Given the description of an element on the screen output the (x, y) to click on. 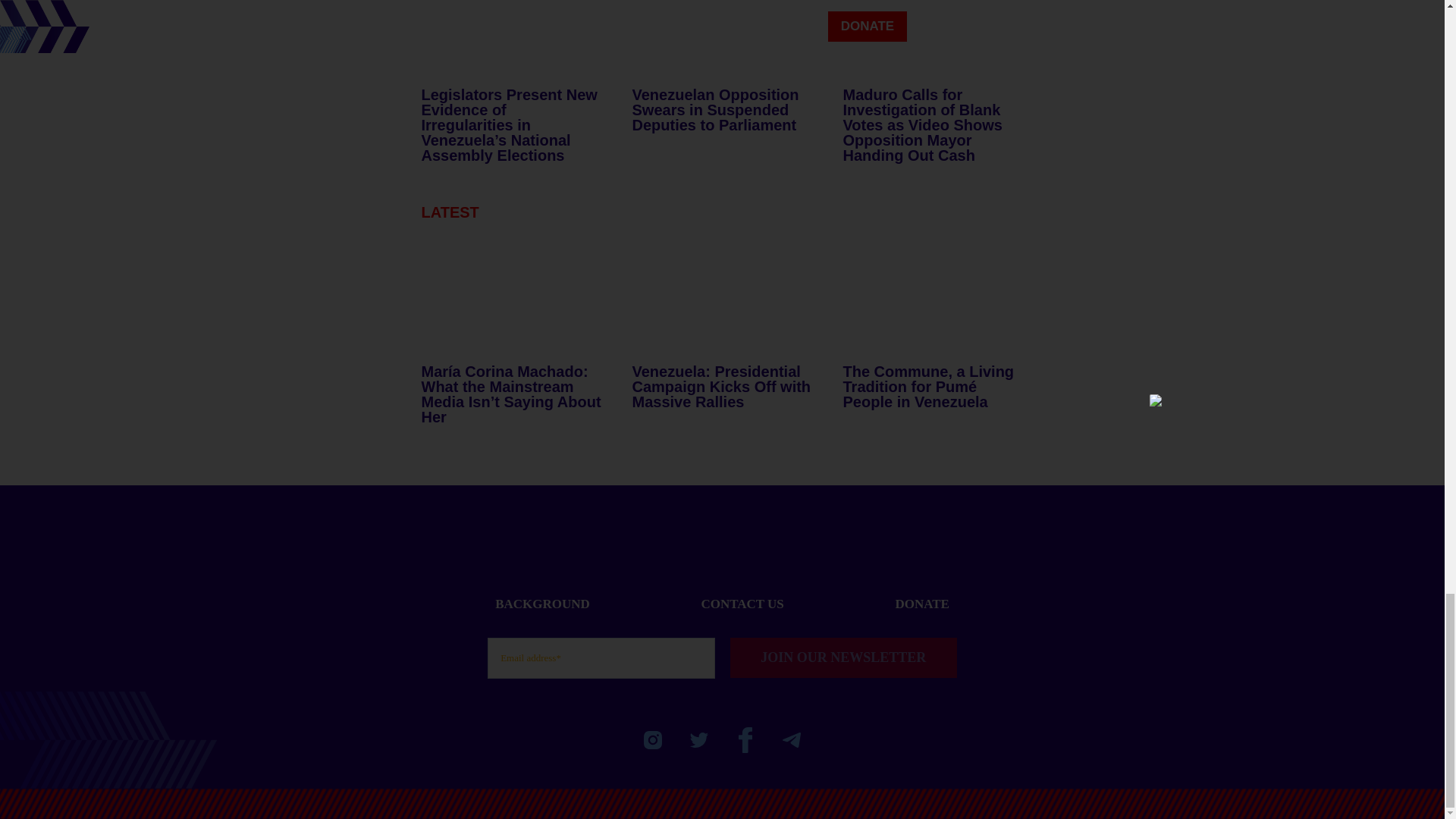
JOIN OUR NEWSLETTER (842, 658)
